Given the description of an element on the screen output the (x, y) to click on. 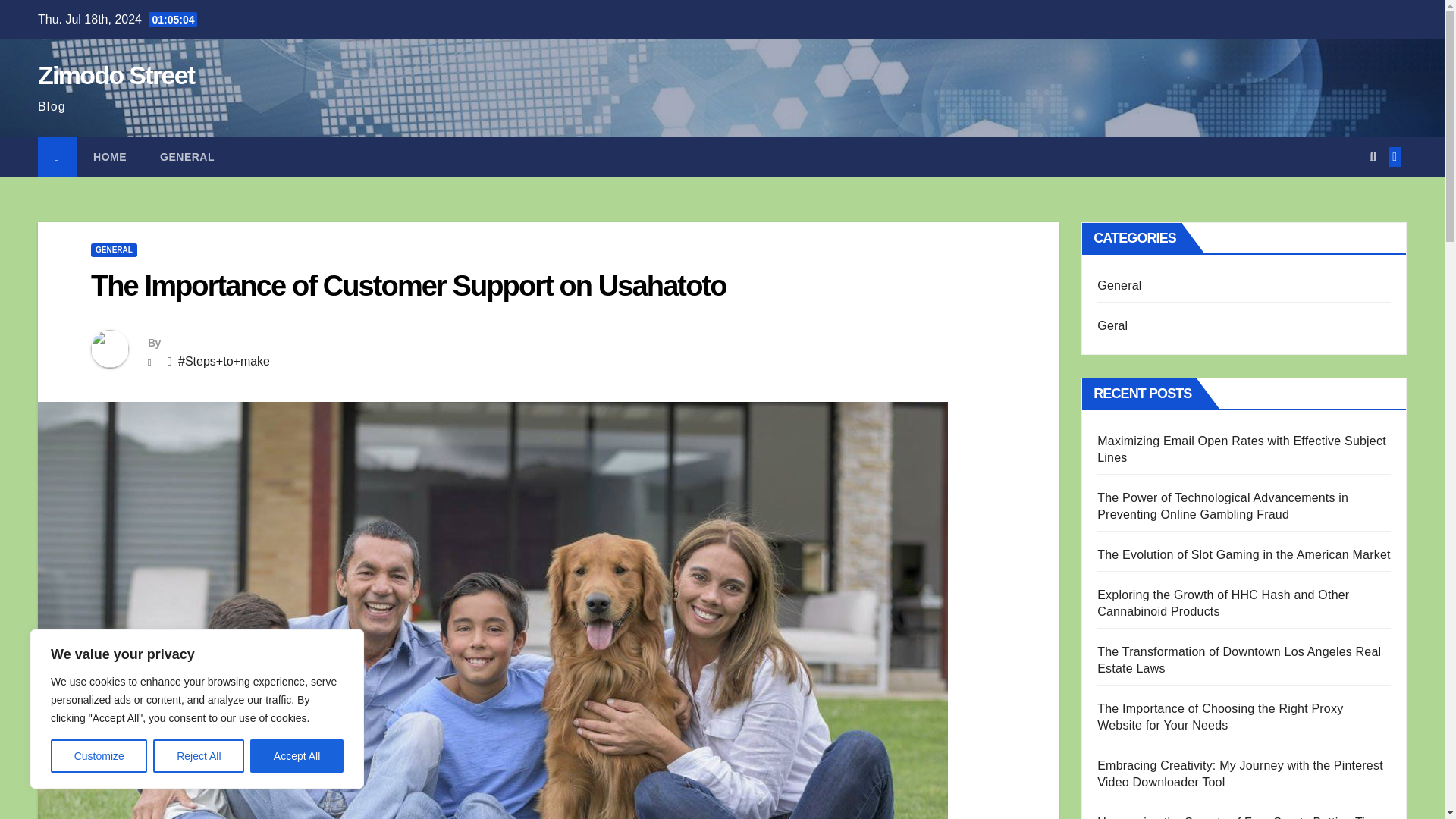
Zimodo Street (115, 74)
The Importance of Customer Support on Usahatoto (408, 286)
General (186, 156)
GENERAL (113, 250)
Home (109, 156)
GENERAL (186, 156)
Accept All (296, 756)
Reject All (198, 756)
HOME (109, 156)
Customize (98, 756)
